Given the description of an element on the screen output the (x, y) to click on. 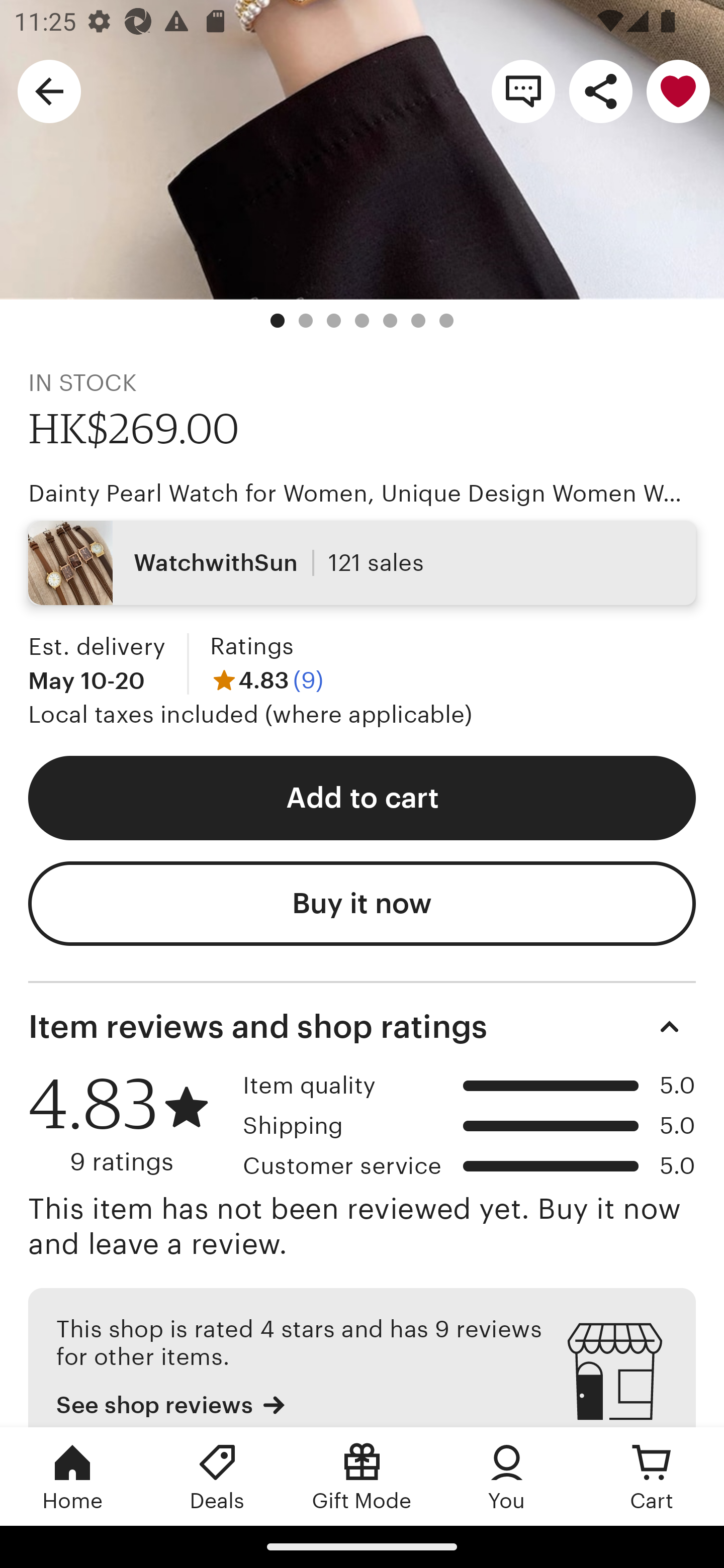
Navigate up (49, 90)
Contact shop (523, 90)
Share (600, 90)
WatchwithSun 121 sales (361, 562)
Ratings (251, 646)
4.83 (9) (266, 680)
Add to cart (361, 797)
Buy it now (361, 902)
Item reviews and shop ratings (362, 1026)
4.83 9 ratings (128, 1124)
Deals (216, 1475)
Gift Mode (361, 1475)
You (506, 1475)
Cart (651, 1475)
